Given the description of an element on the screen output the (x, y) to click on. 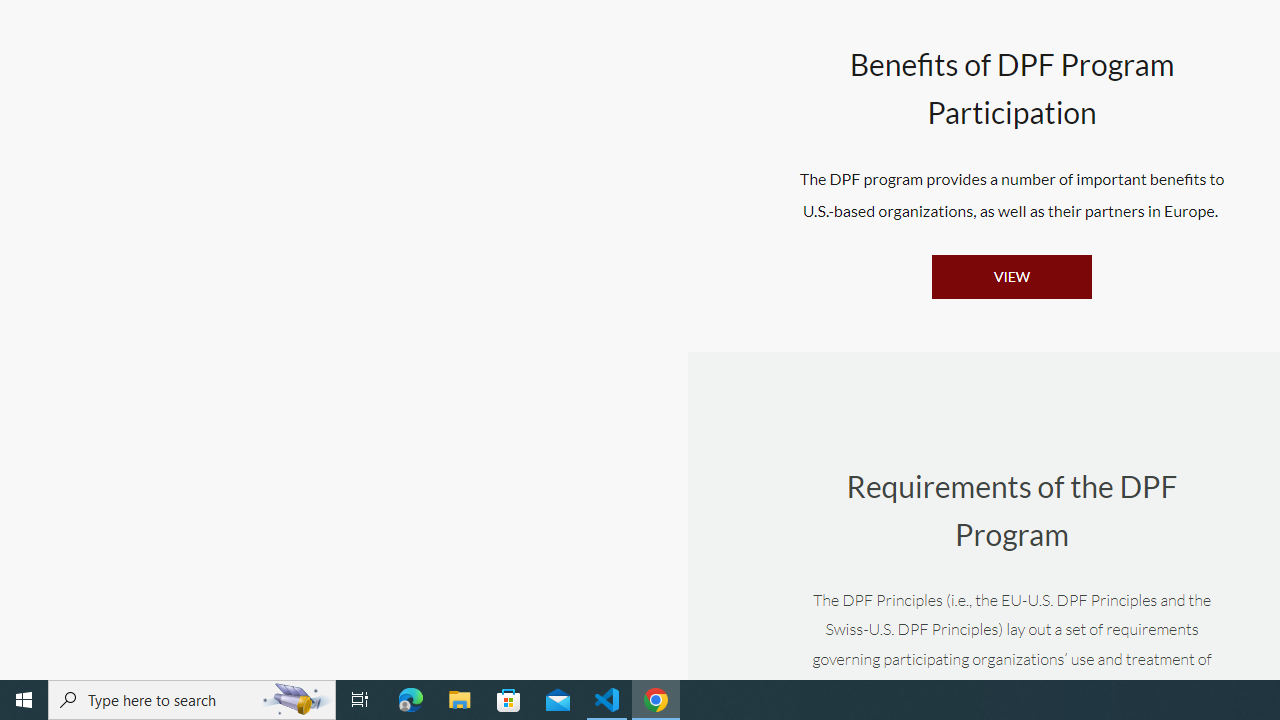
VIEW (1011, 276)
